Given the description of an element on the screen output the (x, y) to click on. 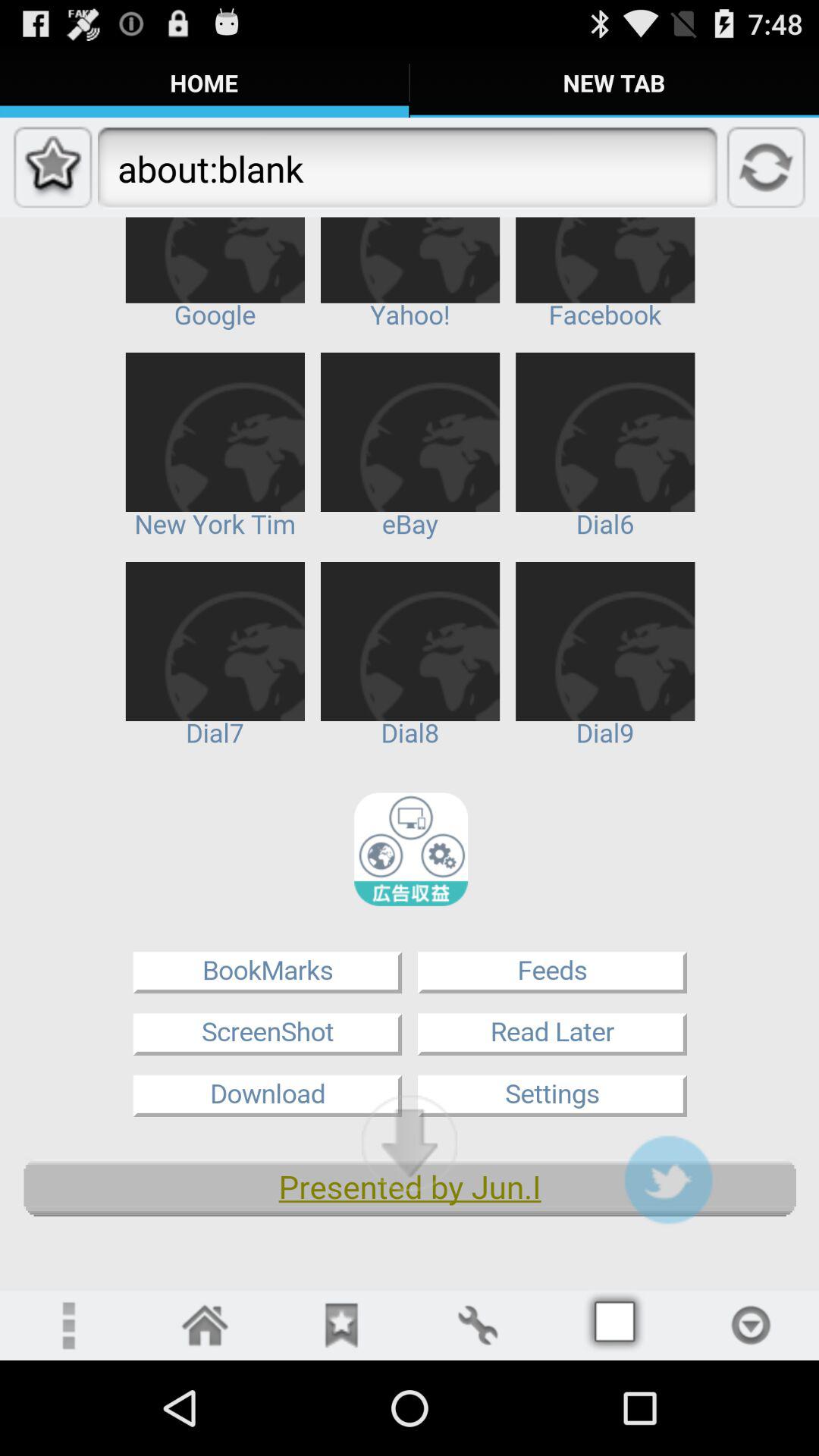
go home (204, 1325)
